Given the description of an element on the screen output the (x, y) to click on. 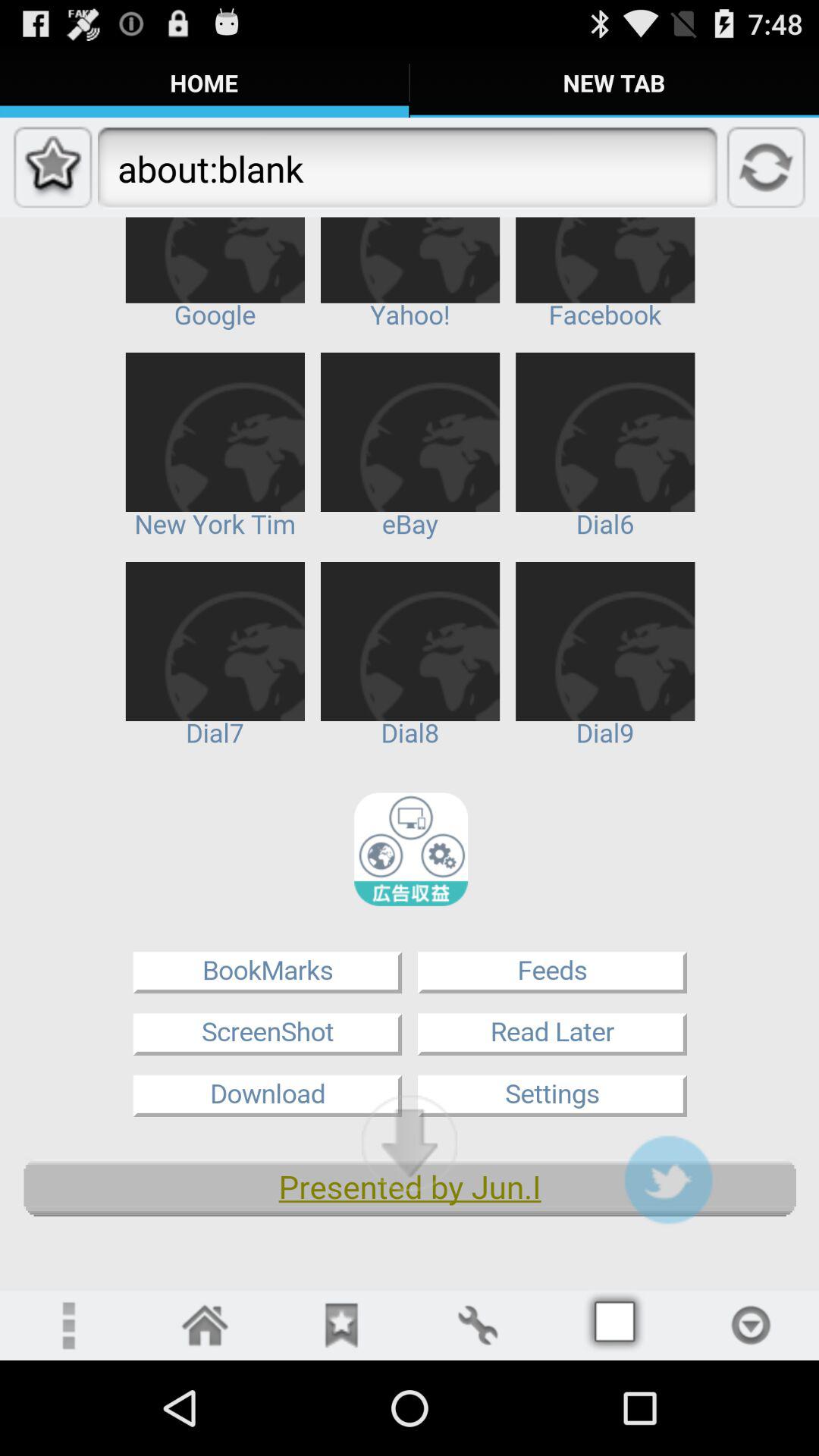
go home (204, 1325)
